Given the description of an element on the screen output the (x, y) to click on. 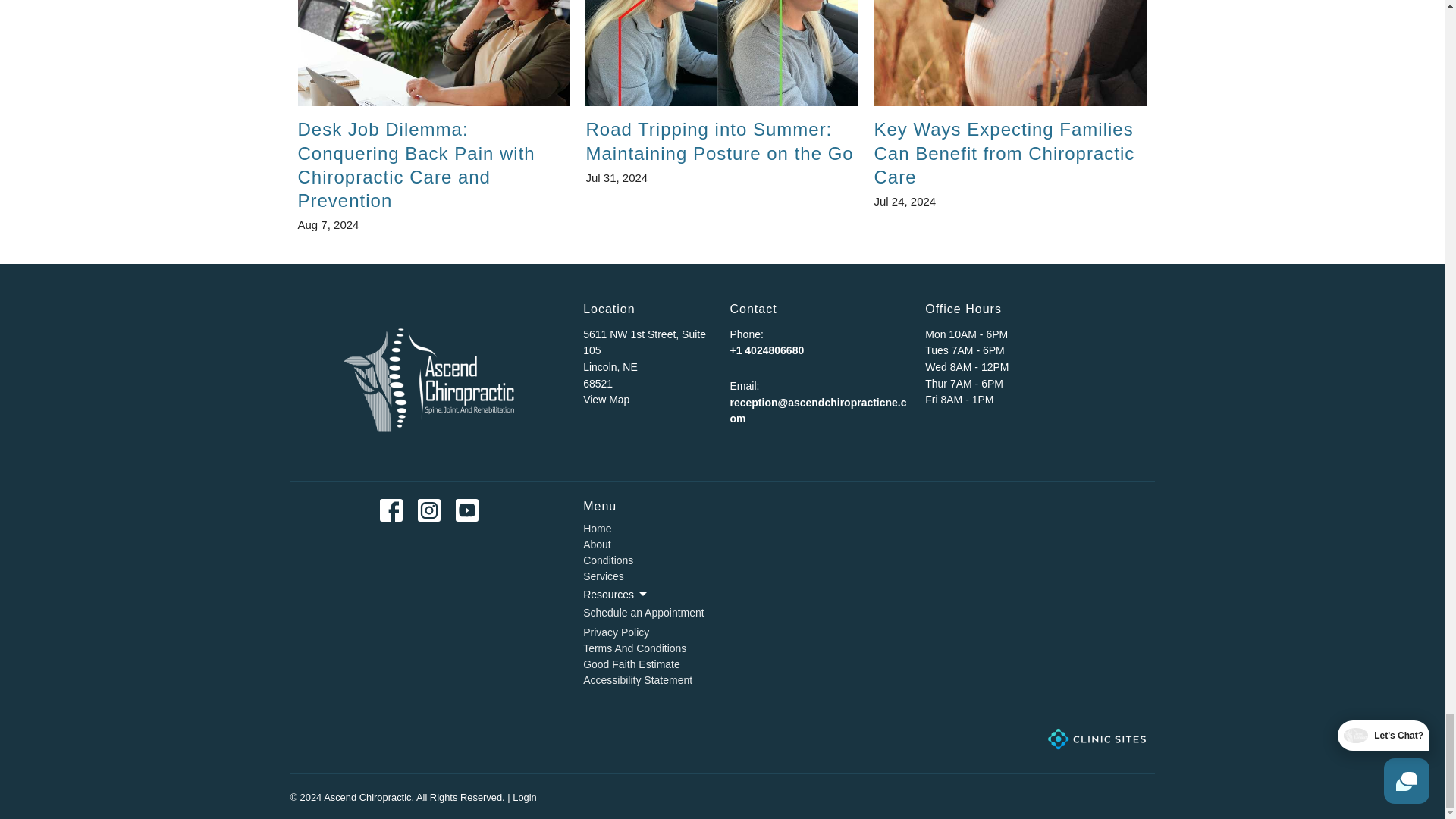
Conditions (608, 560)
Services (603, 576)
Resources (616, 594)
Home (597, 528)
About (597, 544)
View Map (605, 399)
